Given the description of an element on the screen output the (x, y) to click on. 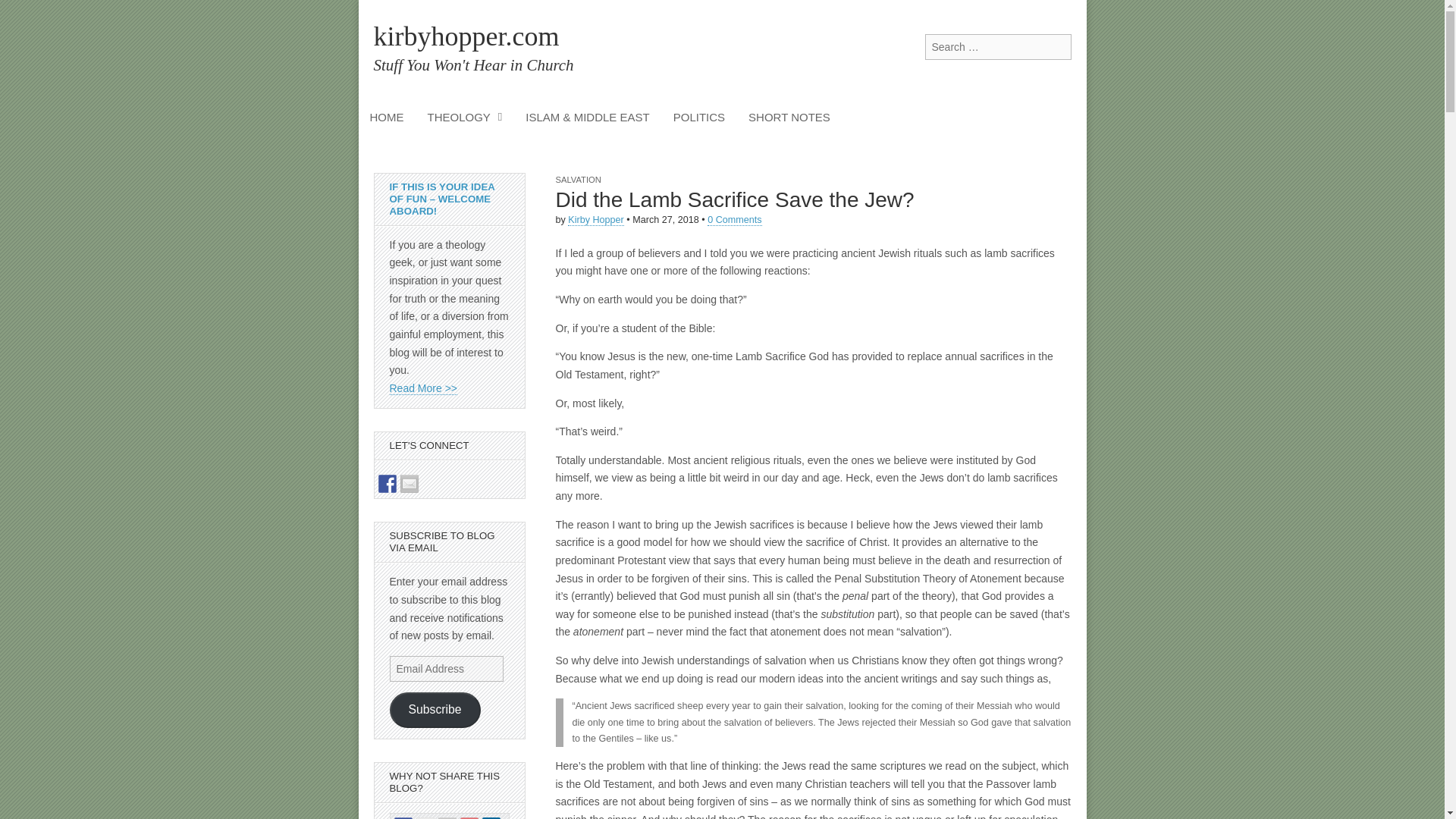
HOME (386, 117)
THEOLOGY (463, 117)
SHORT NOTES (788, 117)
0 Comments (734, 220)
Follow on Facebook (386, 484)
SALVATION (576, 179)
Because we are all a bit too ADD for in-depth articles. (788, 117)
kirbyhopper.com (465, 36)
Search (23, 12)
POLITICS (699, 117)
Posts by Kirby Hopper (595, 220)
Kirby Hopper (595, 220)
kirbyhopper.com (465, 36)
